Given the description of an element on the screen output the (x, y) to click on. 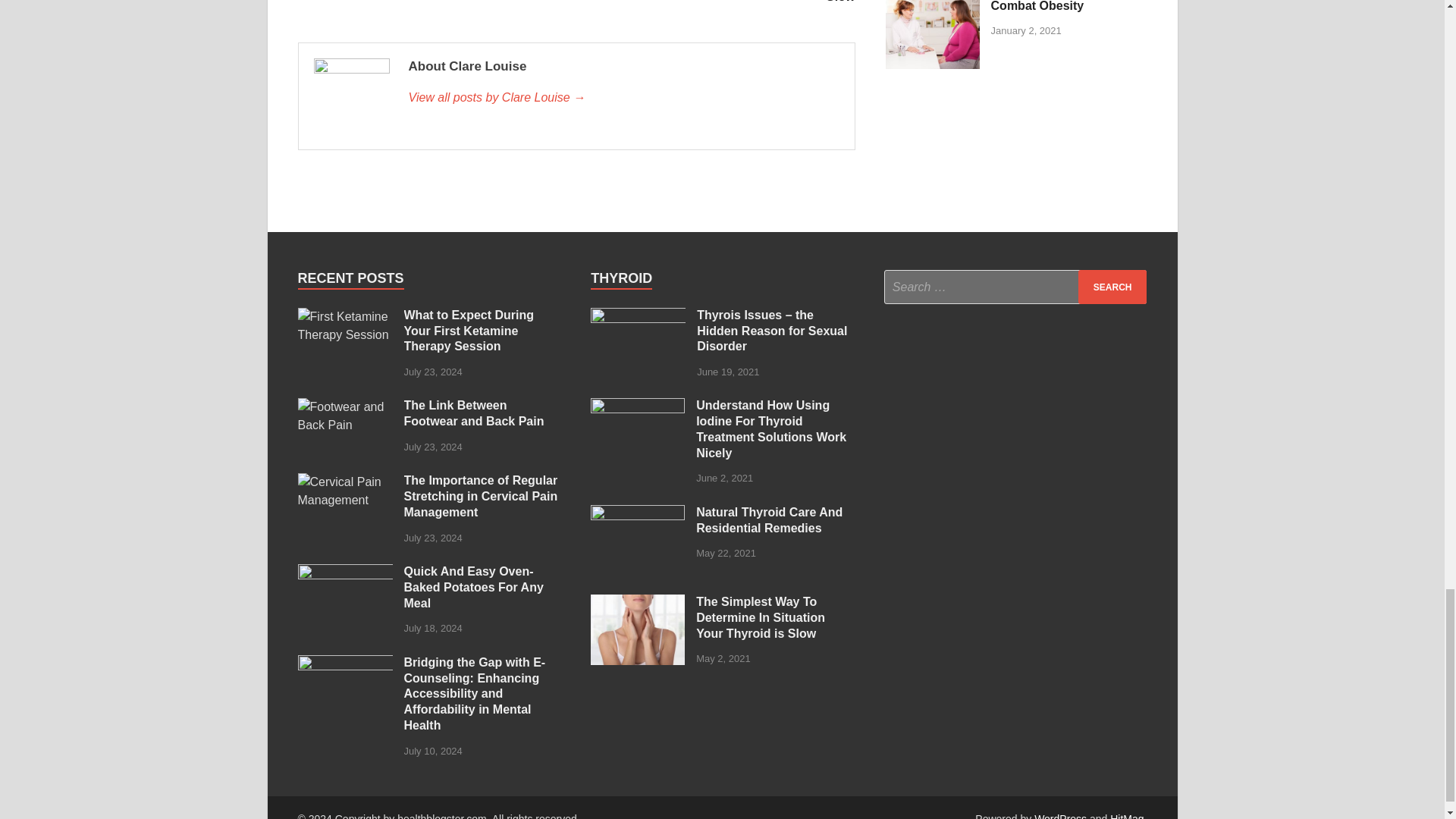
Clare Louise (717, 1)
Search (622, 96)
Search (1112, 286)
